Given the description of an element on the screen output the (x, y) to click on. 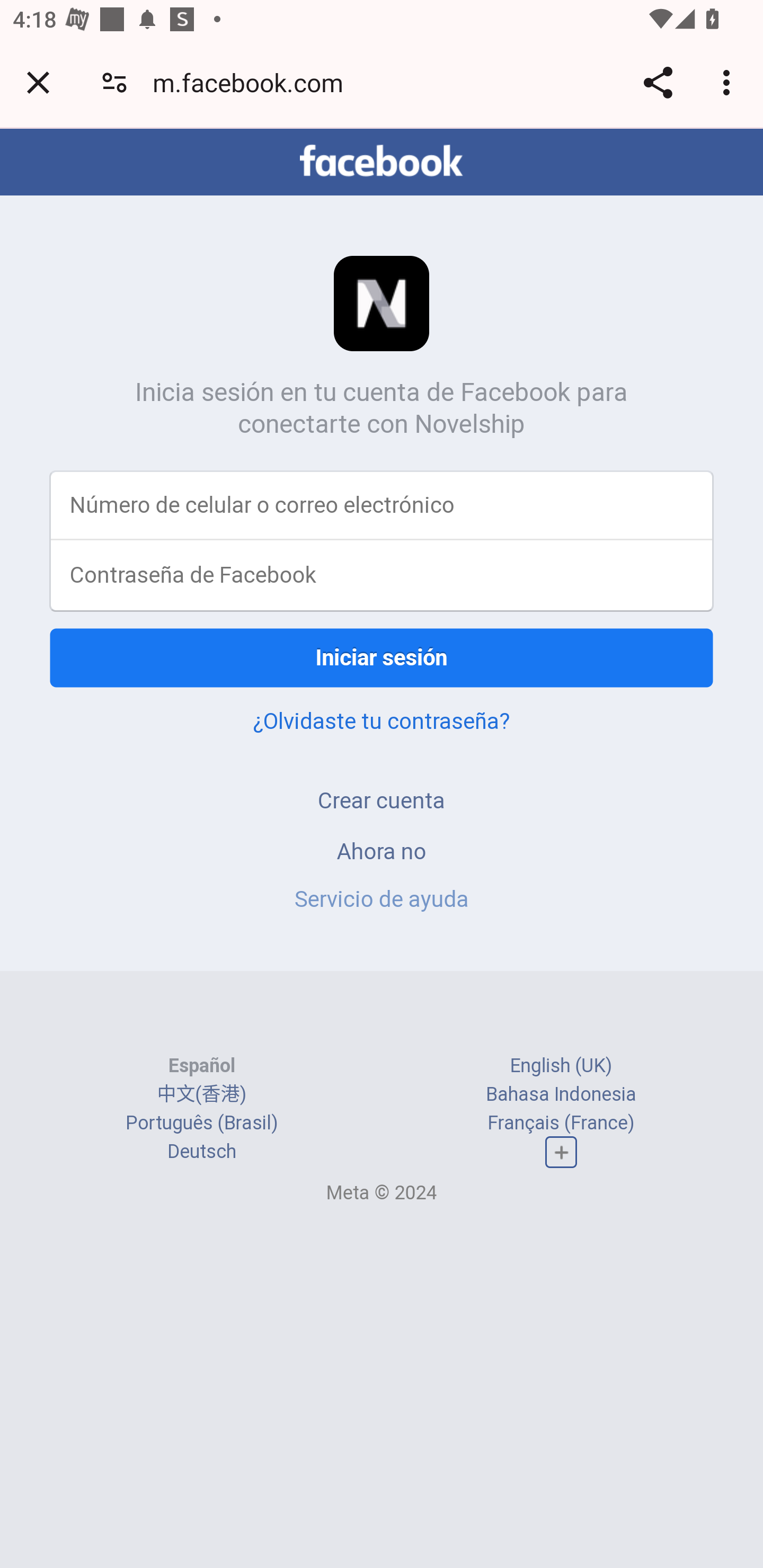
Close tab (38, 82)
Share (657, 82)
Customize and control Google Chrome (729, 82)
Connection is secure (114, 81)
m.facebook.com (254, 81)
facebook (381, 160)
Iniciar sesión (381, 657)
¿Olvidaste tu contraseña? (381, 720)
Crear cuenta (381, 800)
Ahora no (381, 850)
Servicio de ayuda (381, 898)
English (UK) (560, 1065)
中文(香港) (201, 1093)
Bahasa Indonesia (560, 1093)
Português (Brasil) (201, 1122)
Français (France) (560, 1122)
Lista completa de idiomas (560, 1152)
Deutsch (201, 1151)
